Given the description of an element on the screen output the (x, y) to click on. 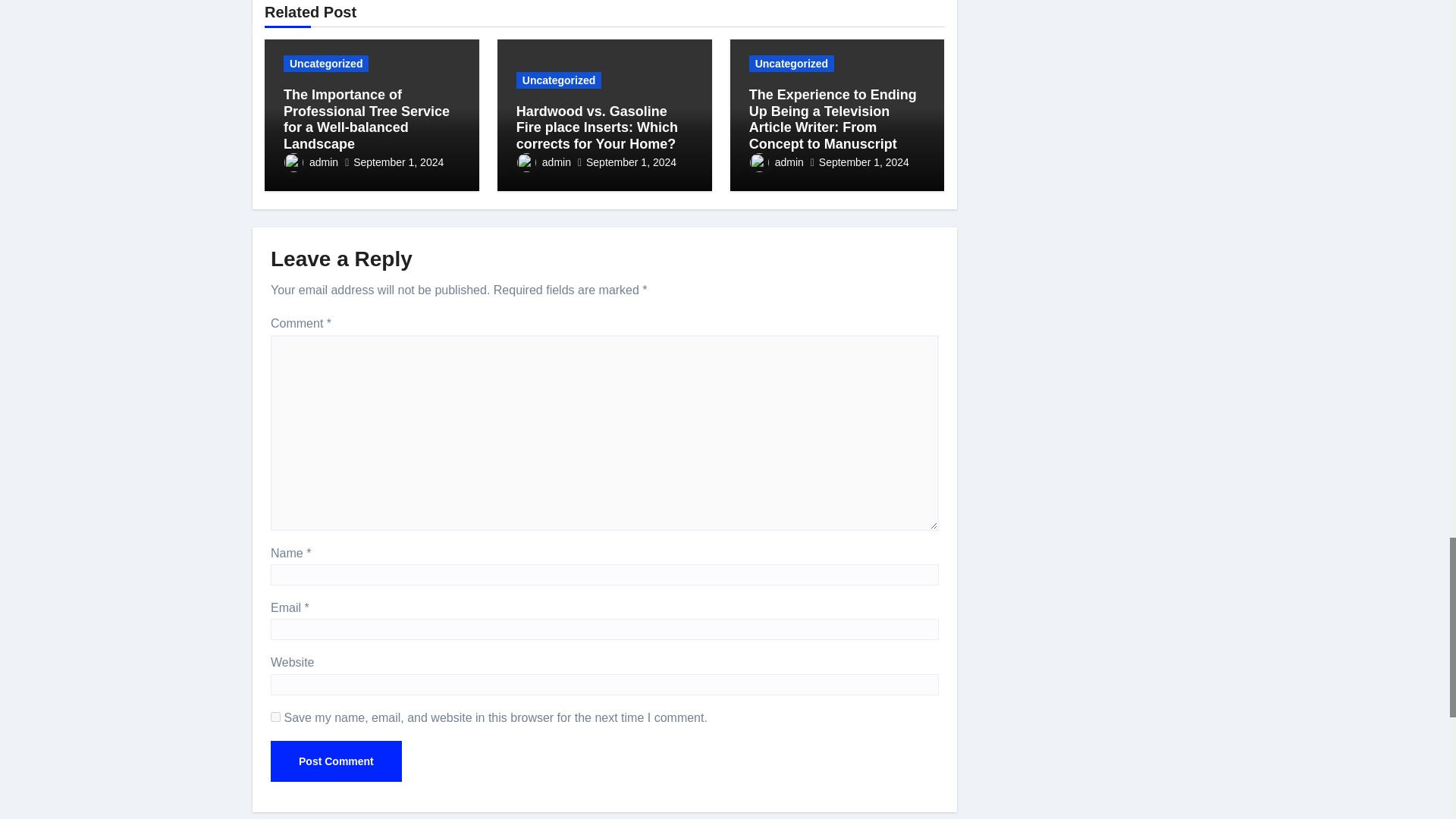
yes (275, 716)
Post Comment (335, 761)
Uncategorized (325, 63)
